Given the description of an element on the screen output the (x, y) to click on. 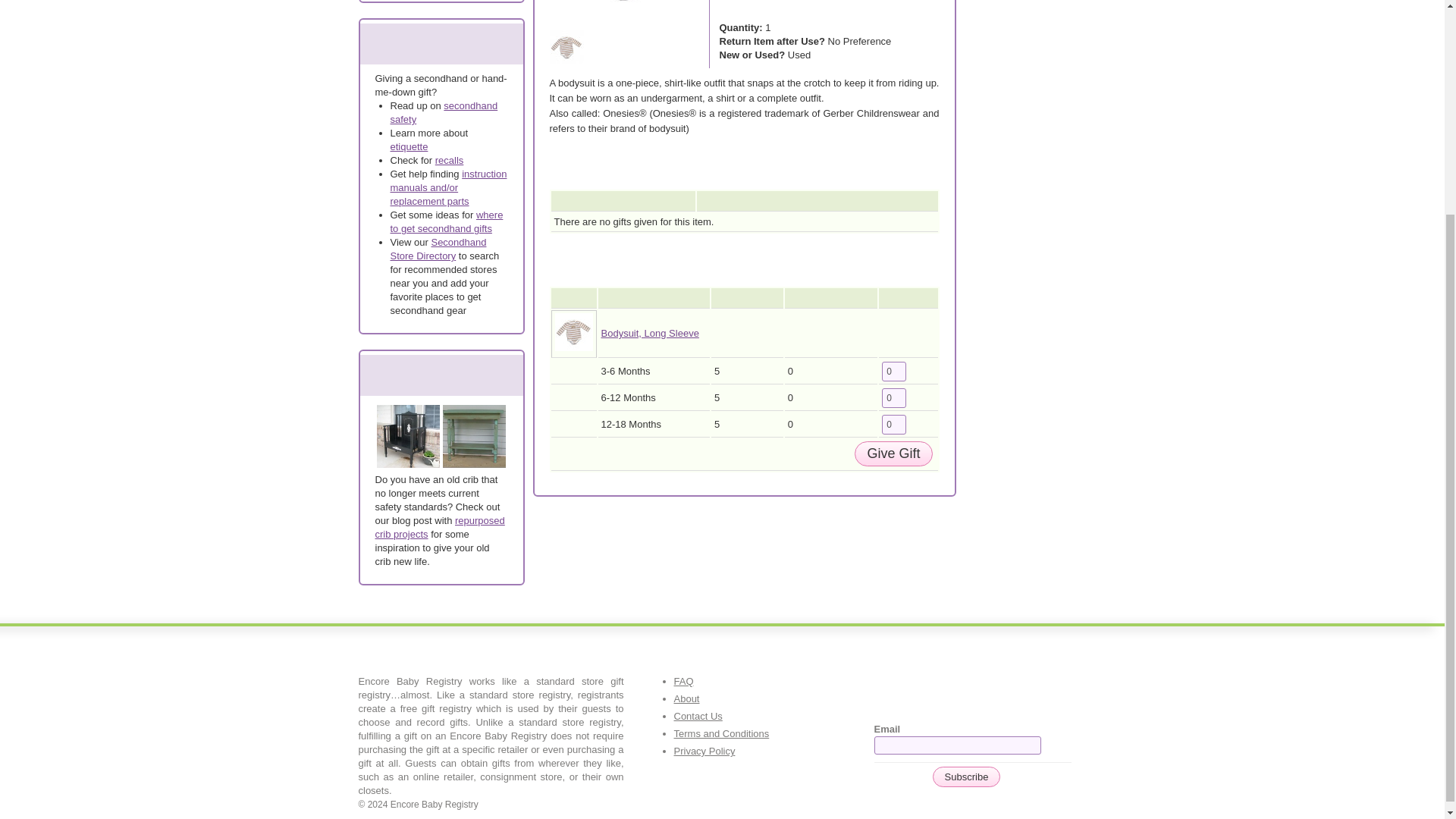
Secondhand Store Directory (438, 248)
Product Recall Search (449, 160)
Subscribe (967, 776)
Hand-Me-Down Etiquette (409, 146)
Secondhand Safety (443, 112)
0 (893, 424)
0 (893, 397)
Give Gift (892, 453)
Repurposed Crib Bench, Designer Garden (407, 436)
0 (893, 371)
Repurposed Crib Table, My Repurposed Life (473, 436)
